Given the description of an element on the screen output the (x, y) to click on. 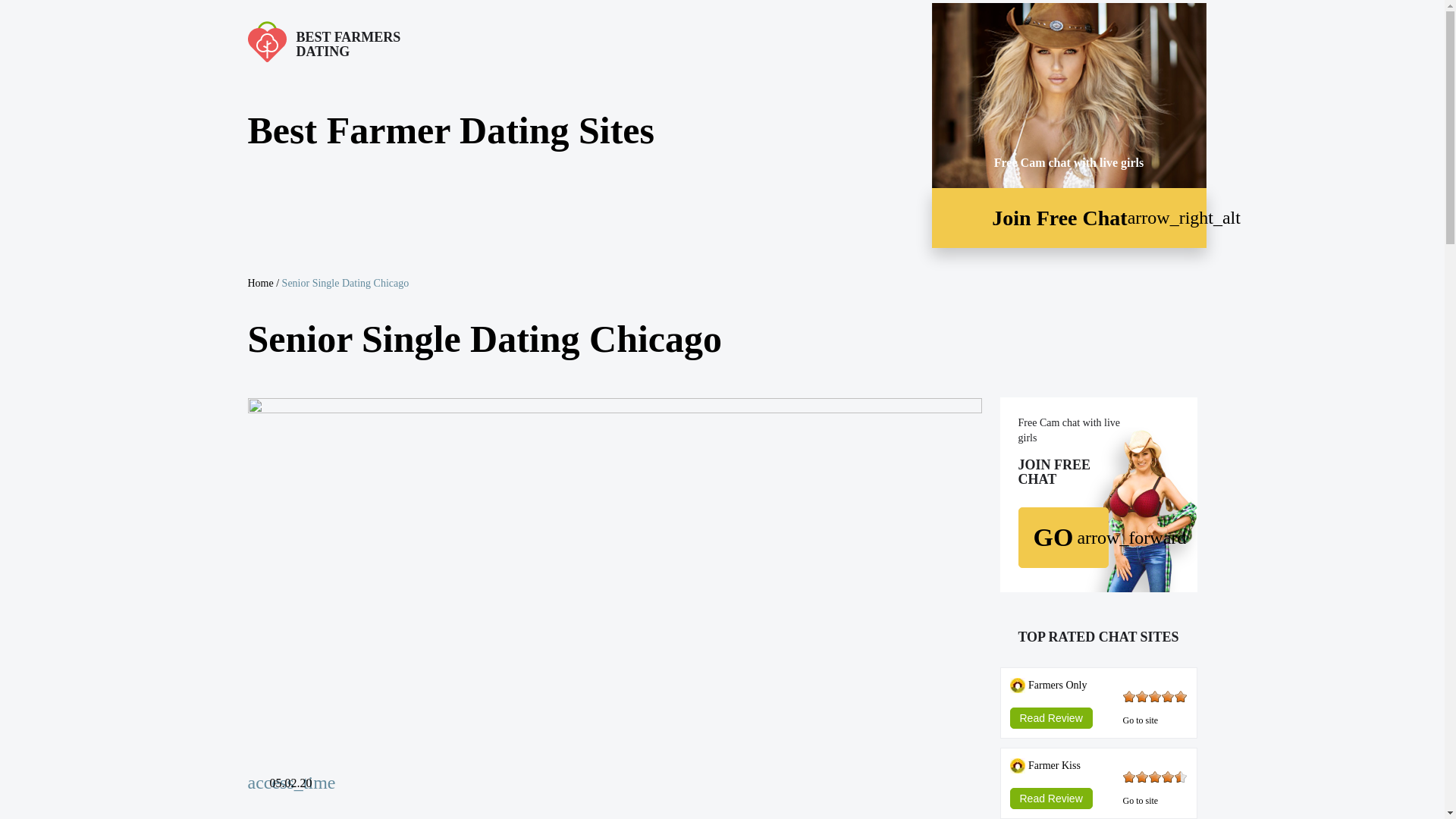
BEST FARMERS DATING (399, 41)
Go to site (1139, 800)
Read Review (1051, 712)
Home (260, 283)
Go to site (1139, 719)
Read Review (1051, 792)
Home (399, 41)
